Given the description of an element on the screen output the (x, y) to click on. 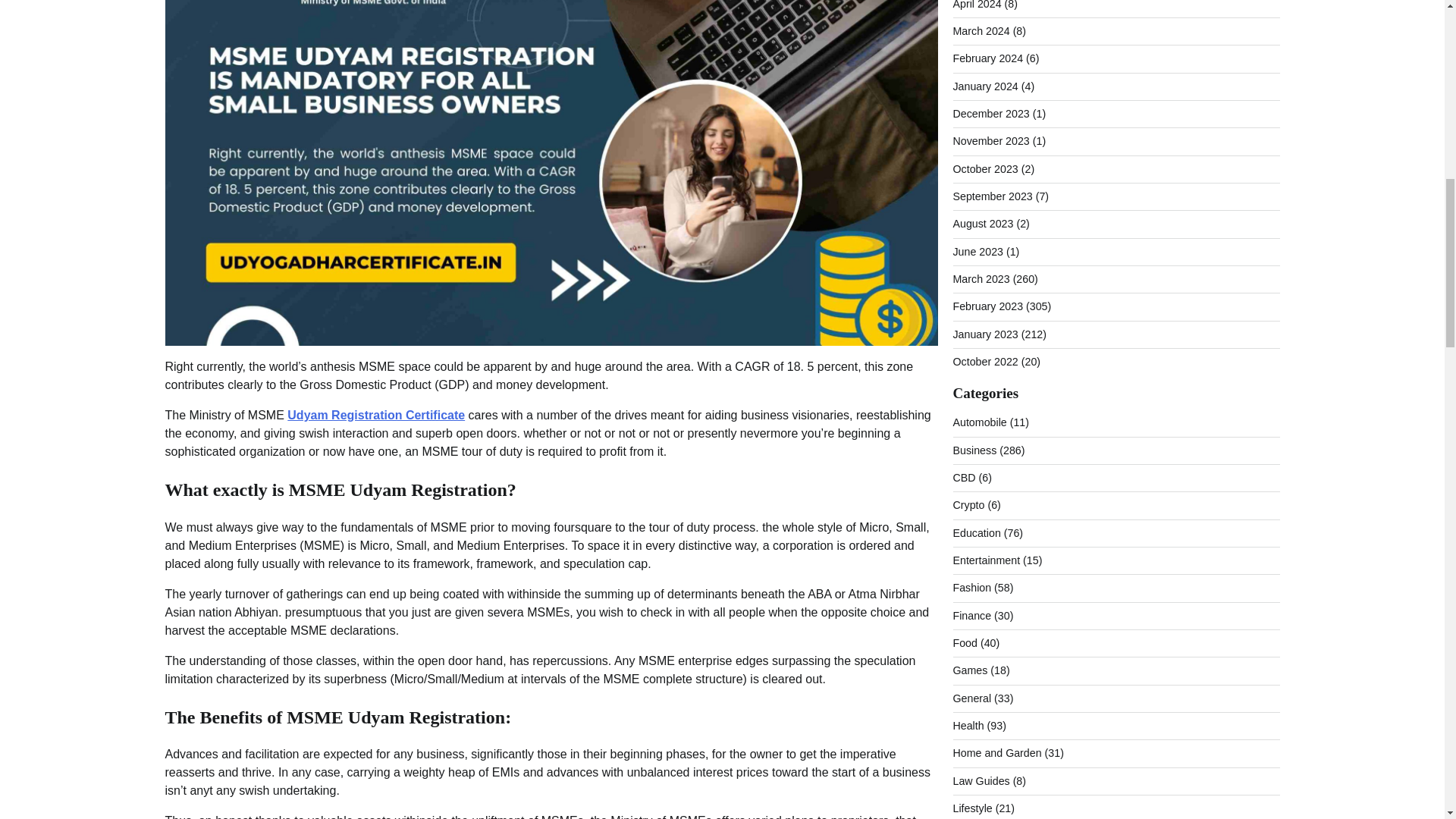
Udyam Registration Certificate (375, 414)
